Given the description of an element on the screen output the (x, y) to click on. 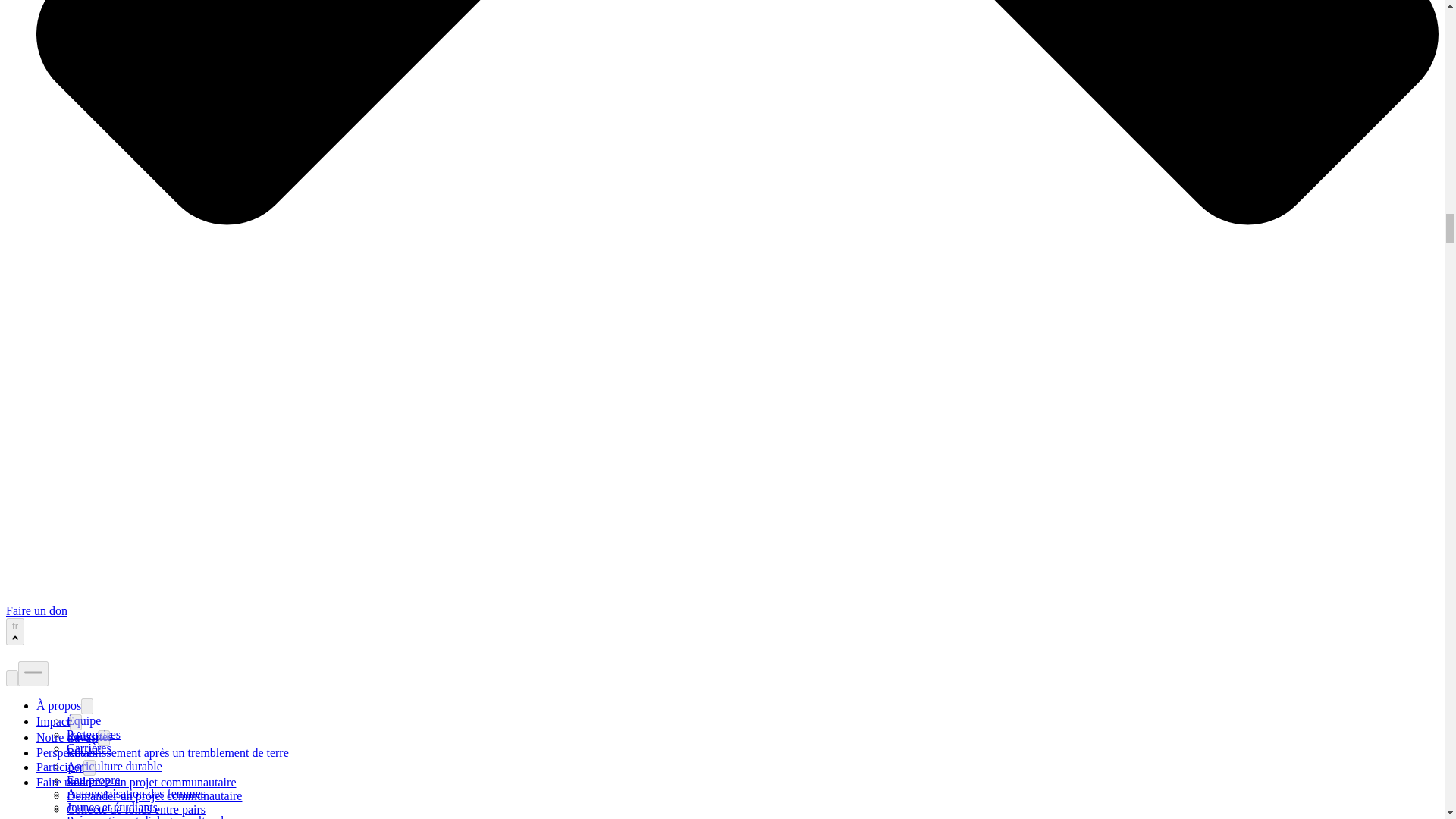
Faire un don (35, 610)
fr (14, 631)
Partenaires (93, 734)
Impact (52, 721)
